Given the description of an element on the screen output the (x, y) to click on. 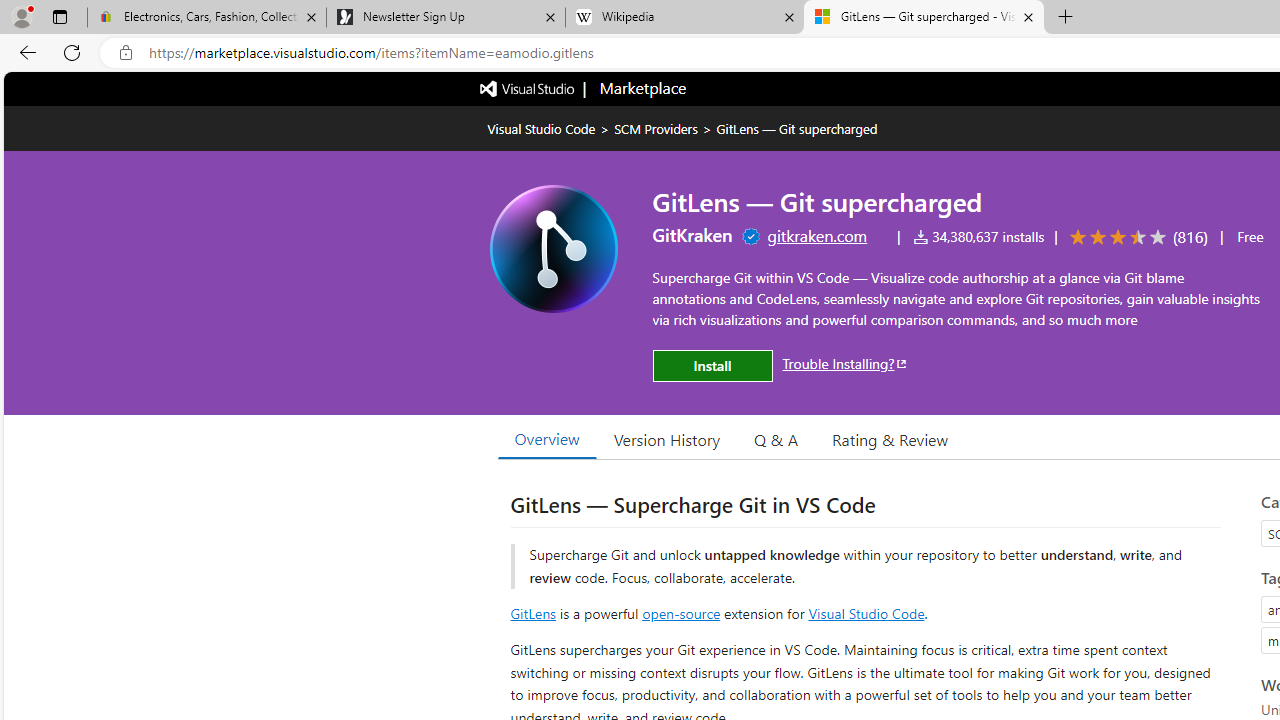
Visual Studio Code (866, 612)
Overview (546, 439)
More from GitKraken publisher (692, 234)
Visual Studio logo Marketplace logo (582, 88)
Install (712, 365)
GitLens (532, 612)
Wikipedia (684, 17)
Electronics, Cars, Fashion, Collectibles & More | eBay (207, 17)
